Given the description of an element on the screen output the (x, y) to click on. 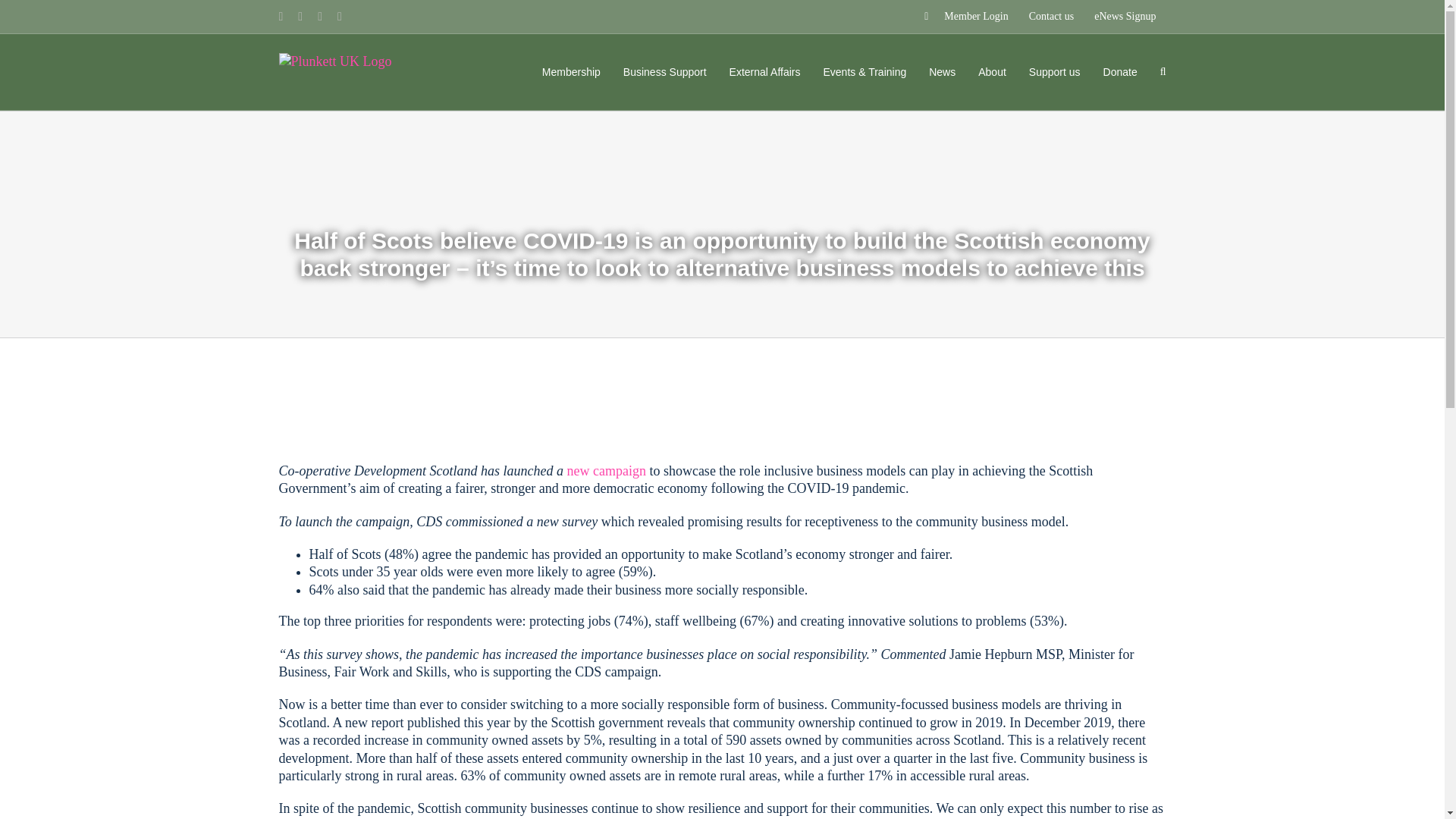
eNews Signup (1125, 16)
External Affairs (764, 71)
Contact us (1051, 16)
Business Support (664, 71)
Member Login (965, 16)
